Given the description of an element on the screen output the (x, y) to click on. 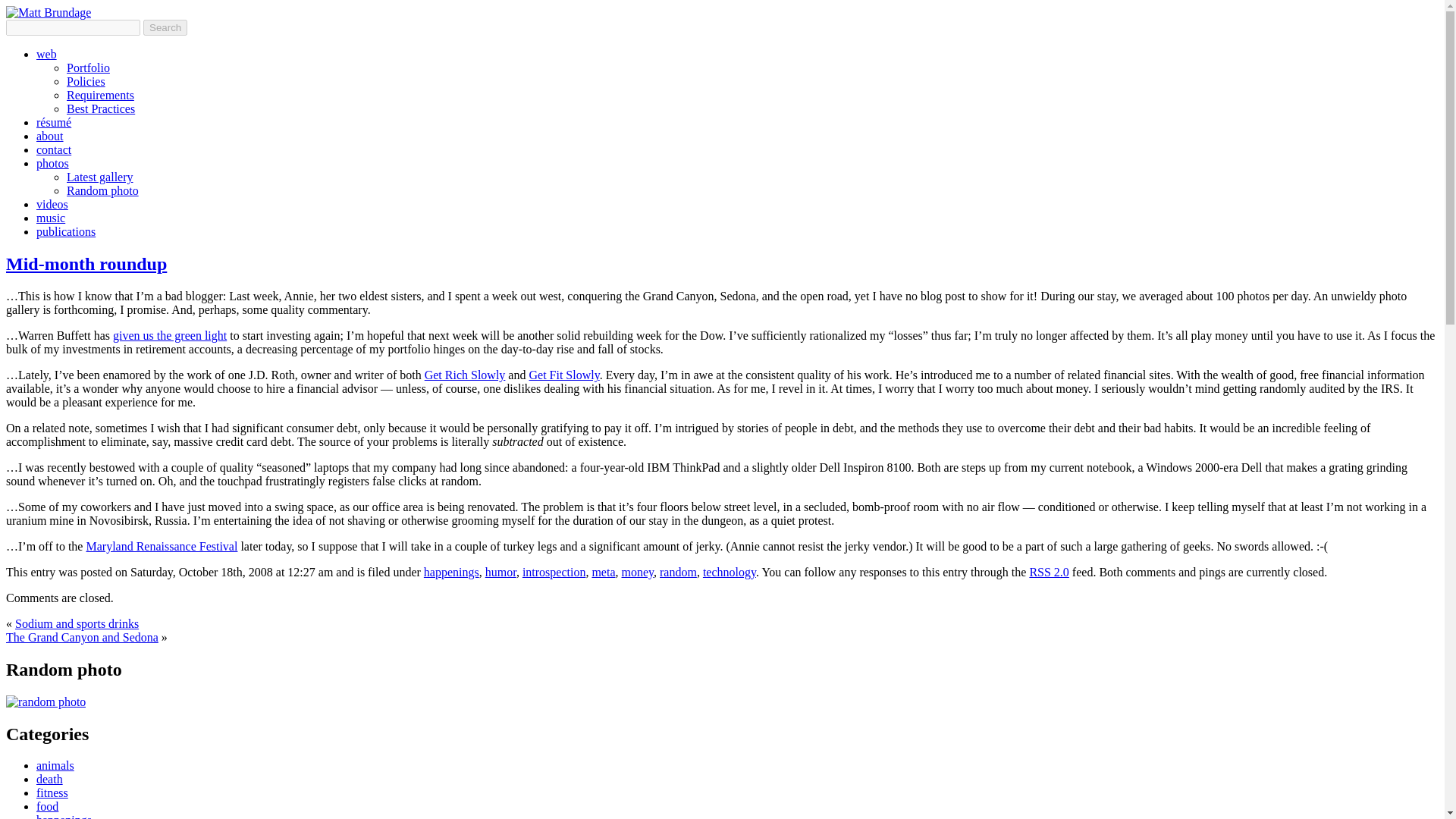
meta (602, 571)
web (46, 53)
random (678, 571)
contact (53, 149)
happenings (63, 816)
photos (52, 163)
animals (55, 765)
Permanent Link: Mid-month roundup (86, 263)
Search (164, 27)
videos (52, 204)
